Given the description of an element on the screen output the (x, y) to click on. 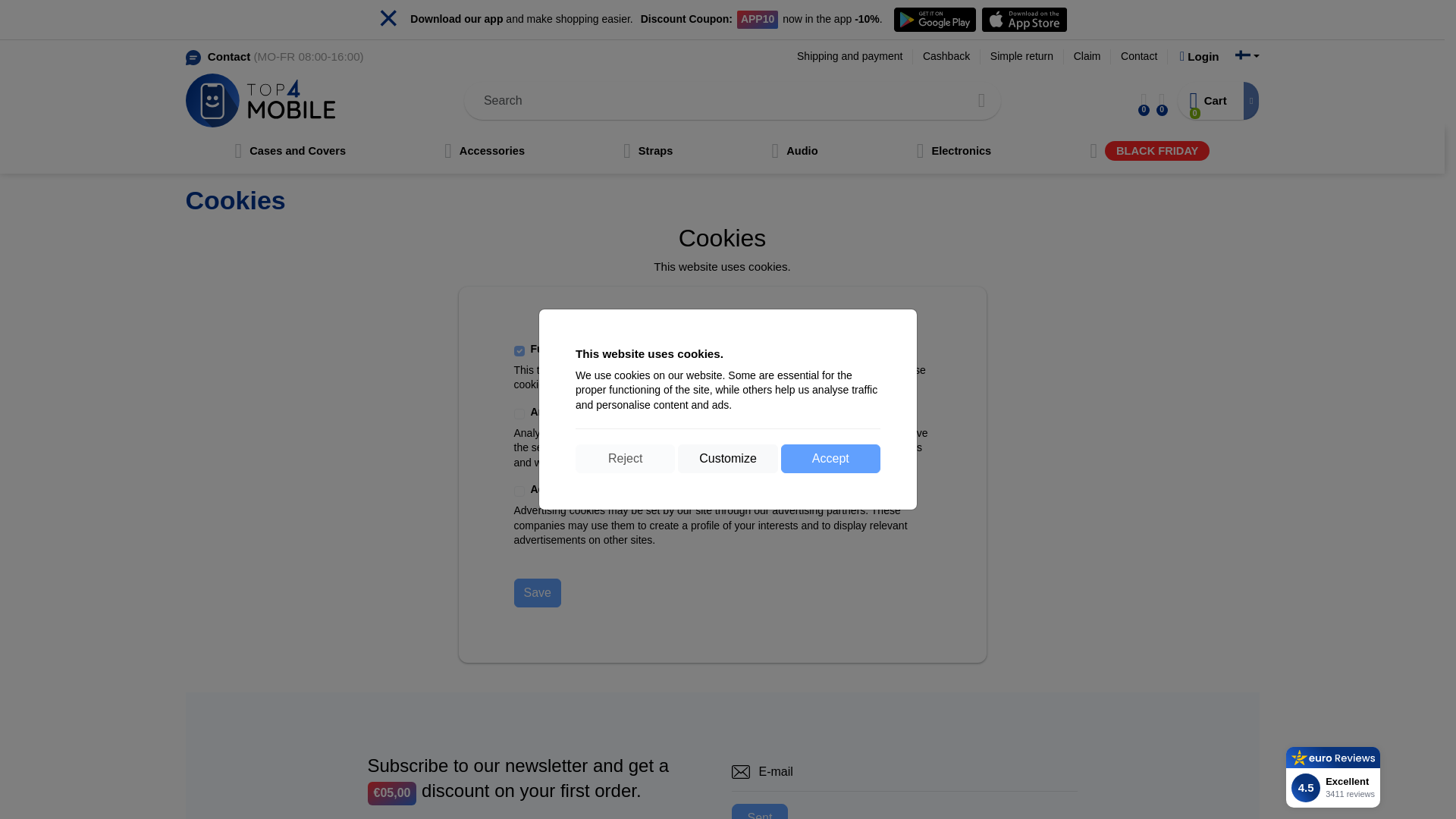
Contact (229, 56)
on (518, 350)
Contact (1138, 56)
Shipping and payment (849, 56)
Simple return (1021, 56)
Accept (830, 458)
Customize (727, 458)
Cashback (945, 56)
Login (1199, 56)
on (518, 491)
